Given the description of an element on the screen output the (x, y) to click on. 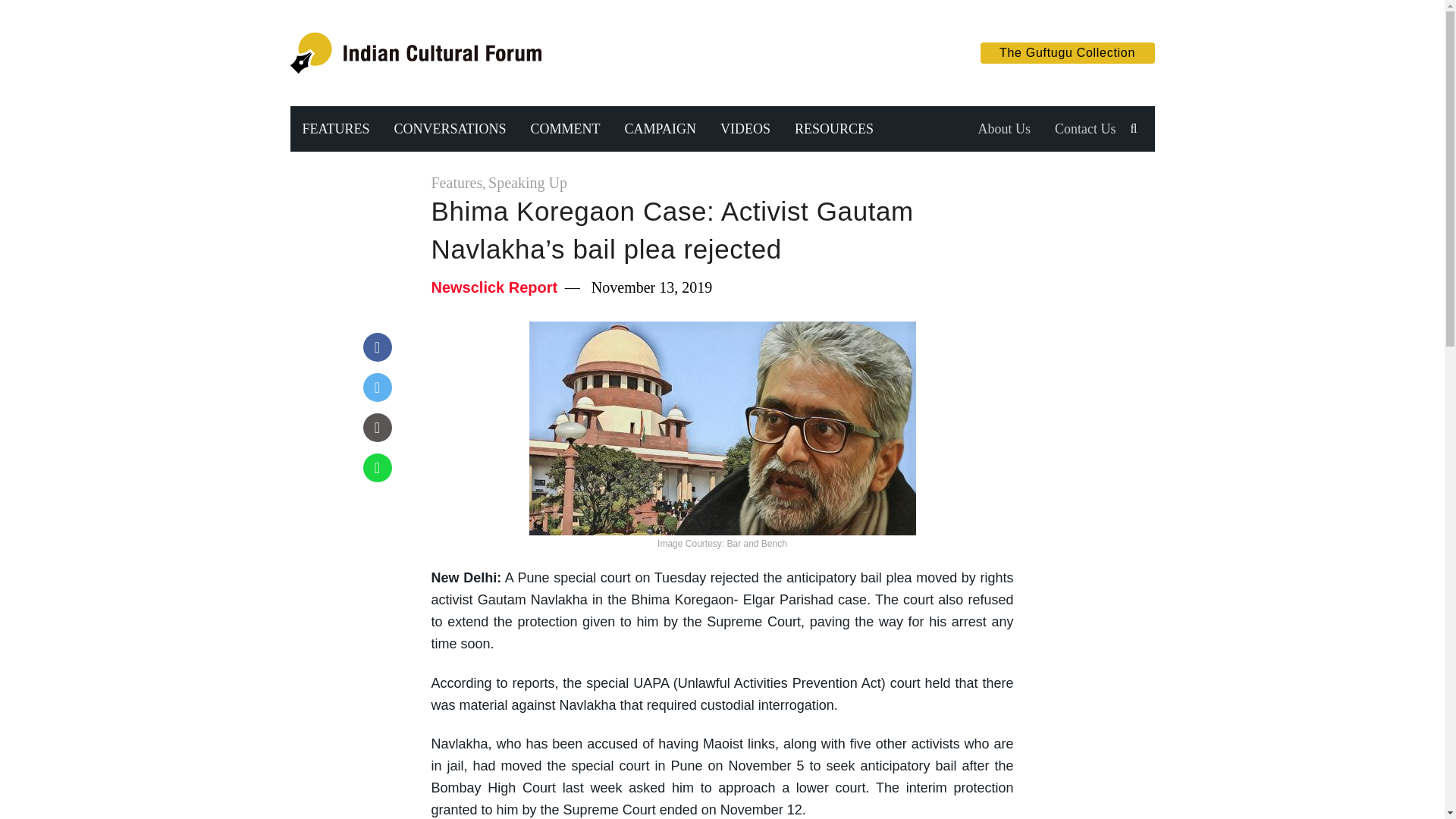
CONVERSATIONS (449, 128)
RESOURCES (834, 128)
FEATURES (335, 128)
Contact Us (1085, 128)
About Us (1003, 128)
VIDEOS (745, 128)
The Guftugu Collection (1066, 52)
CAMPAIGN (659, 128)
COMMENT (565, 128)
